Given the description of an element on the screen output the (x, y) to click on. 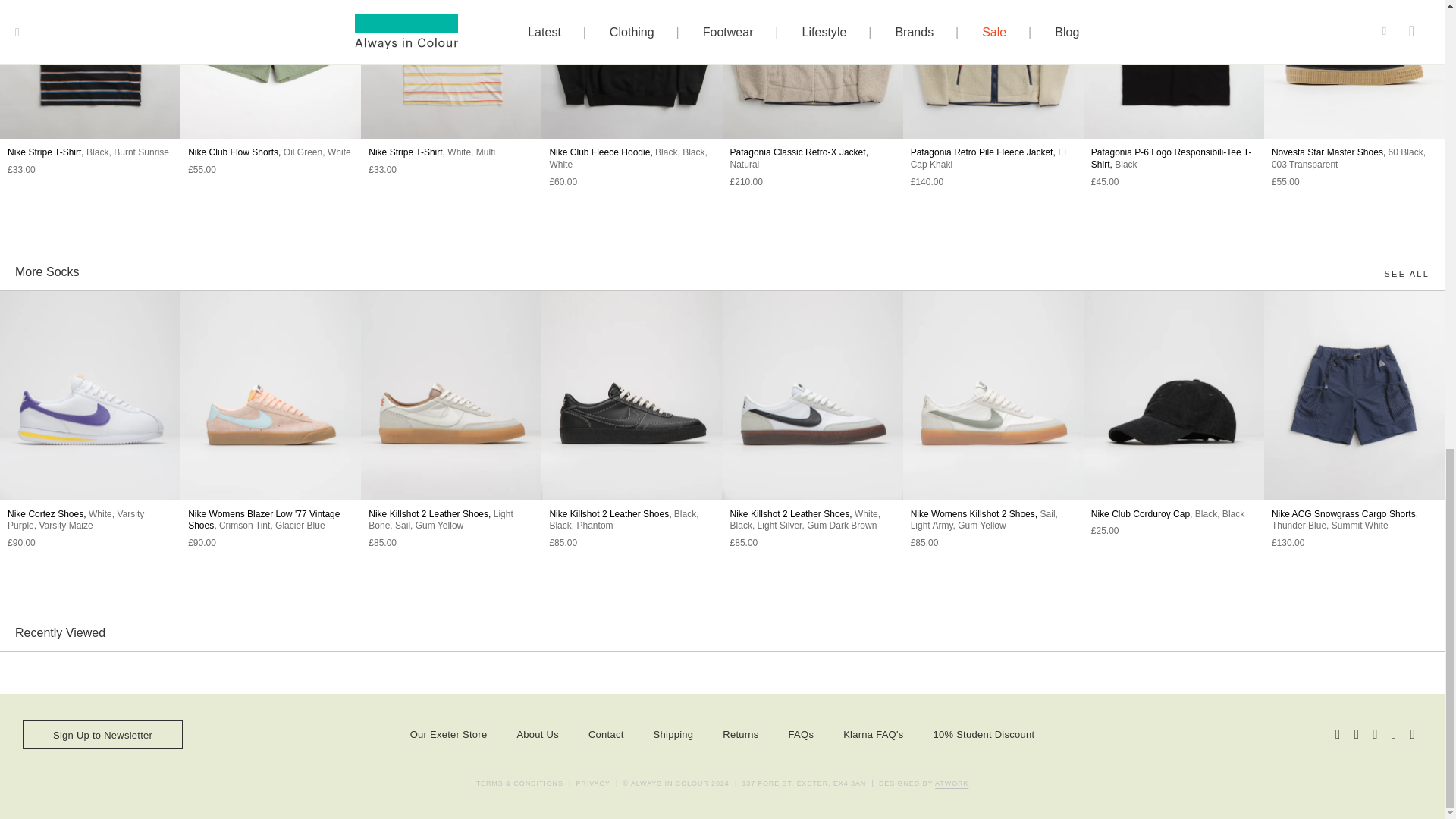
Always in Colour Exeter shop address (803, 784)
View the Always in Colour Privacy Policy (592, 784)
